Given the description of an element on the screen output the (x, y) to click on. 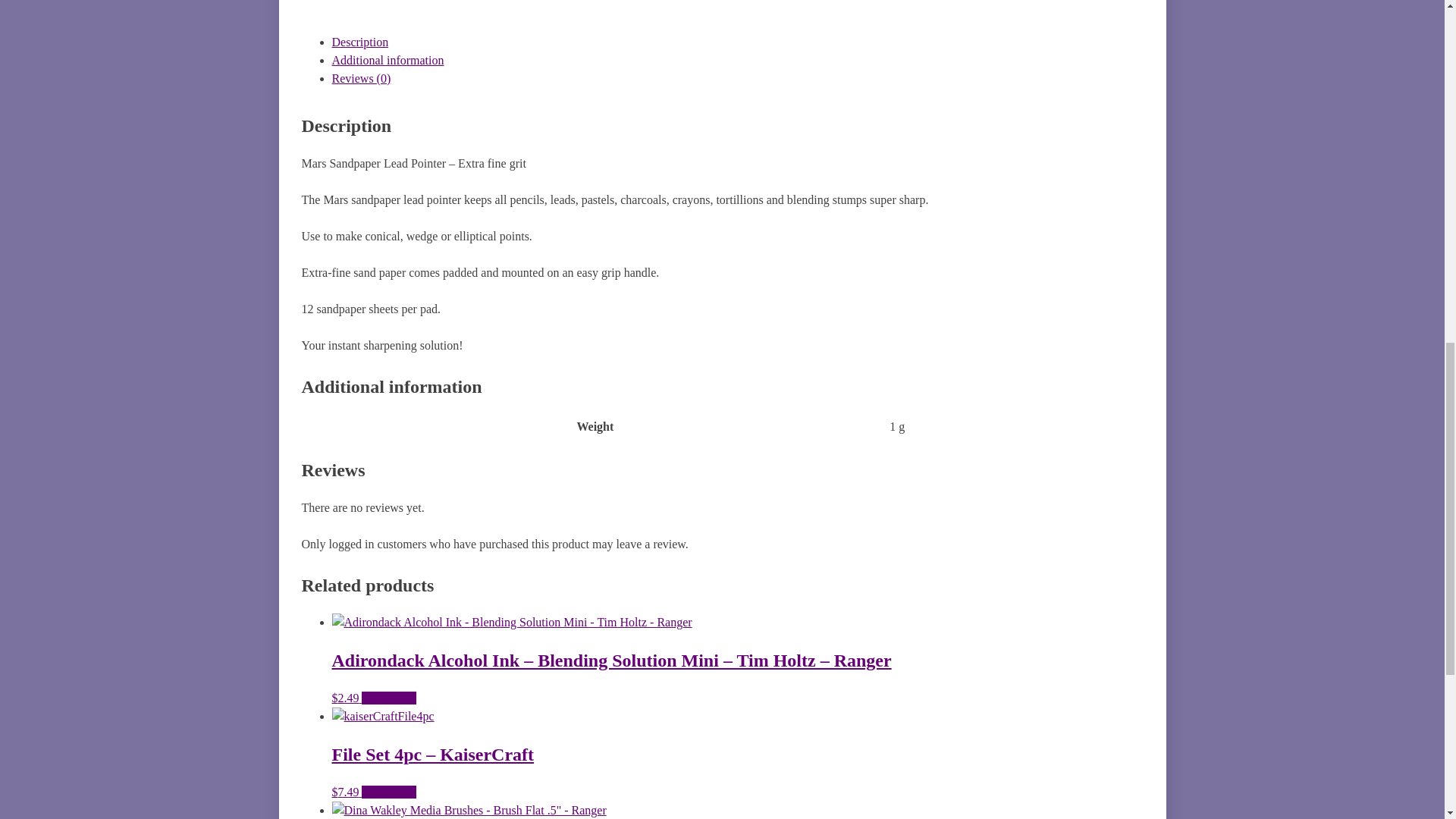
Additional information (387, 60)
Description (359, 42)
